Given the description of an element on the screen output the (x, y) to click on. 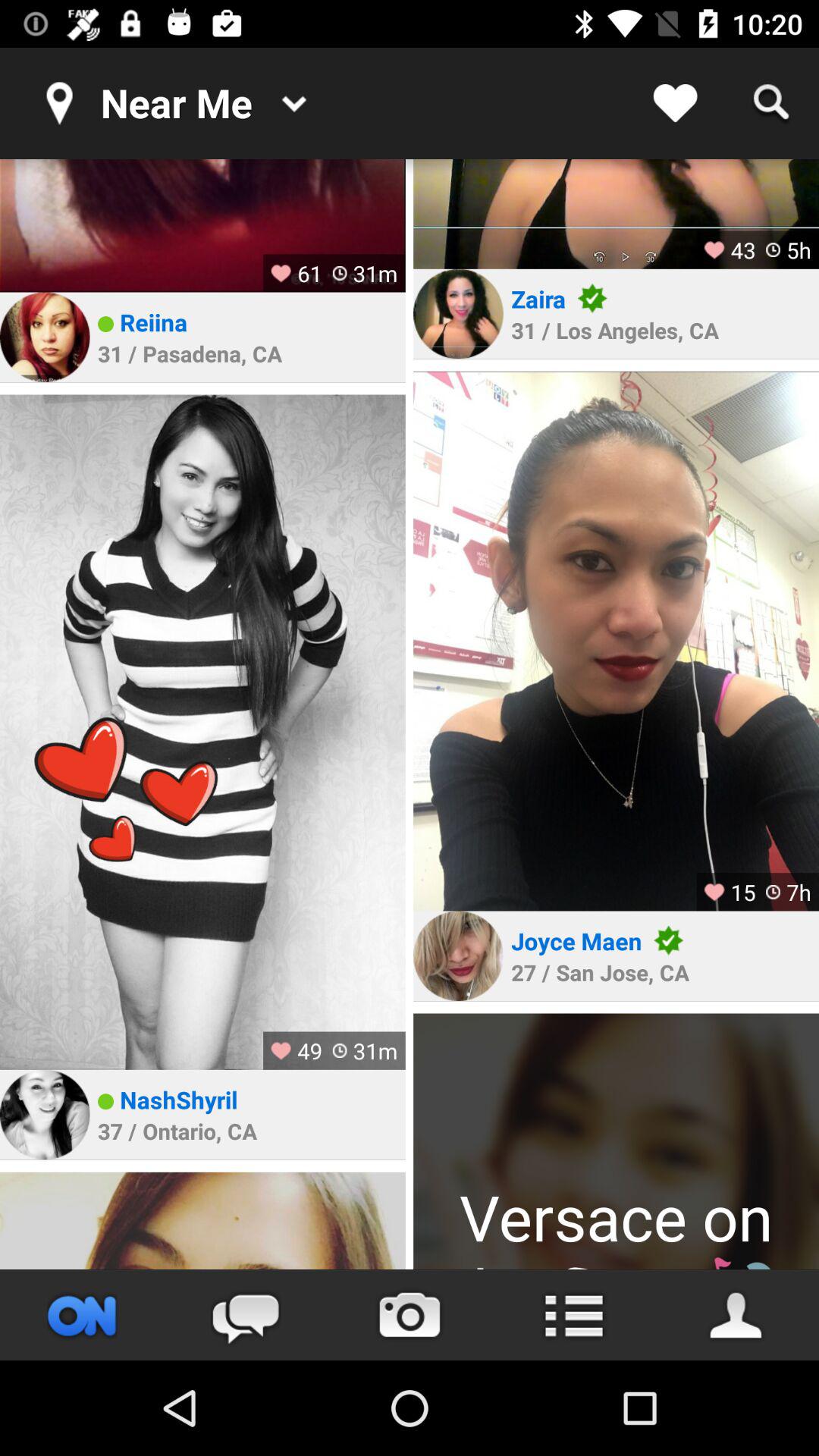
see profile (44, 337)
